Given the description of an element on the screen output the (x, y) to click on. 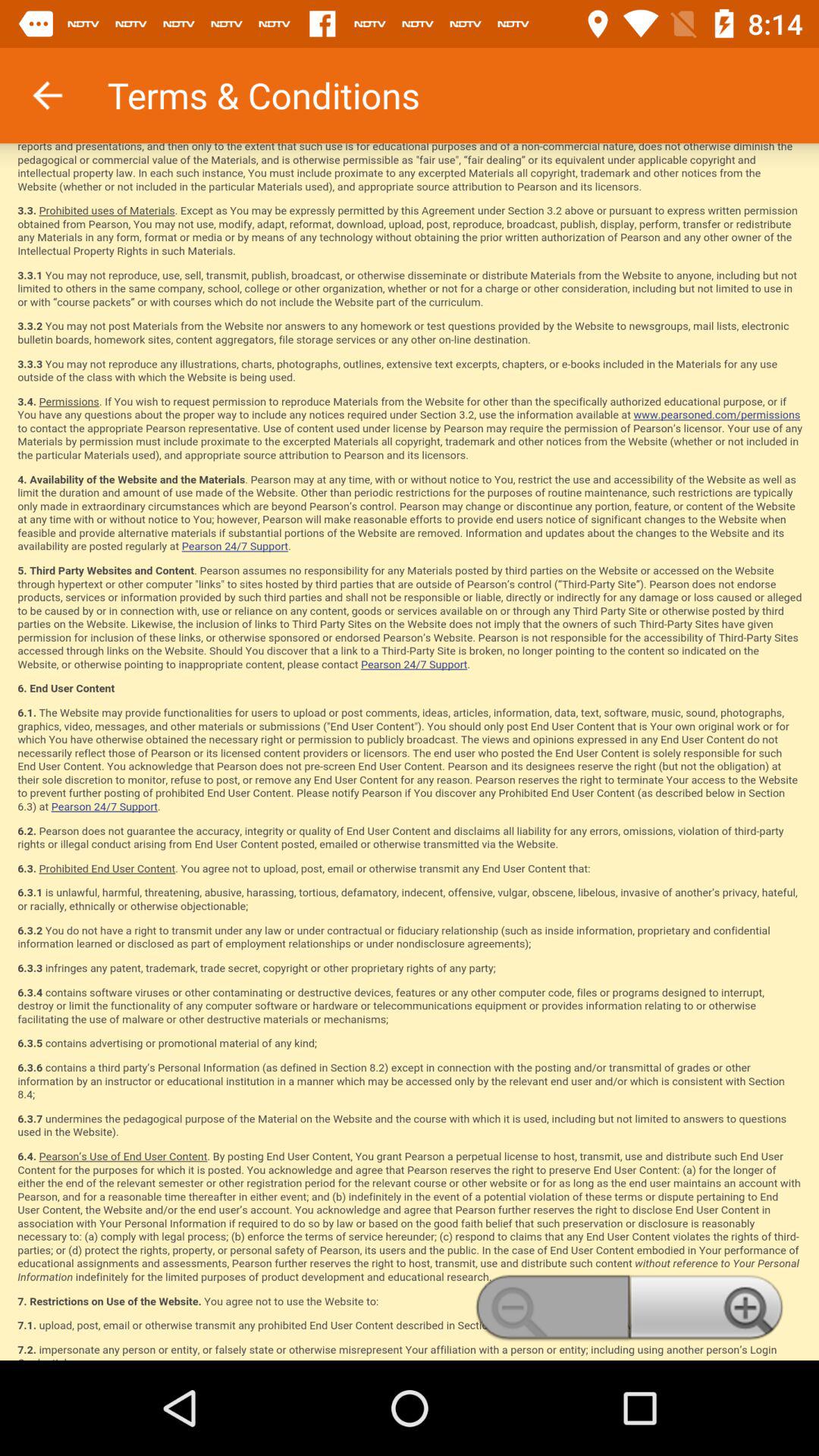
click the main page (409, 751)
